Given the description of an element on the screen output the (x, y) to click on. 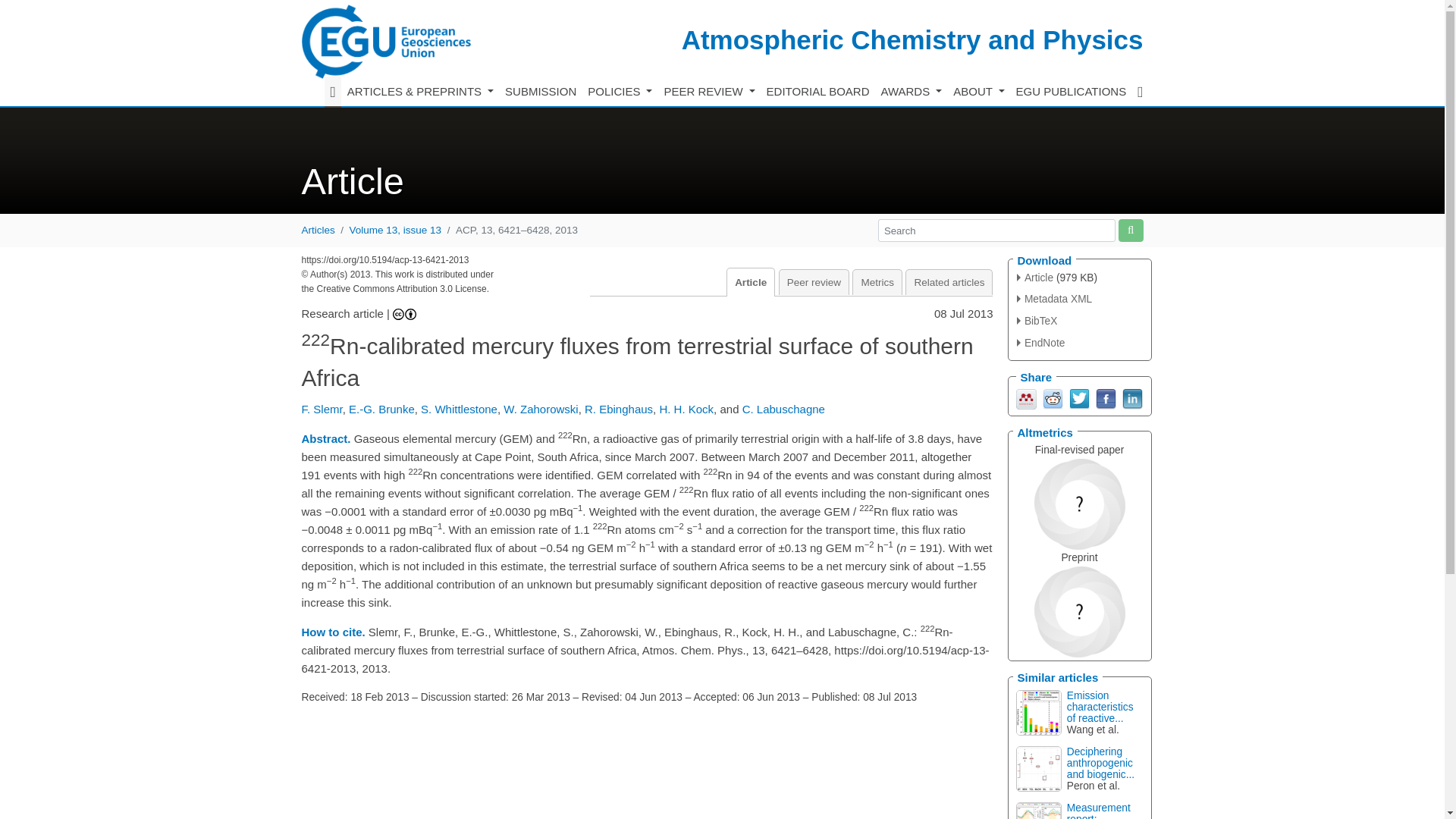
Atmospheric Chemistry and Physics (911, 39)
POLICIES (620, 91)
Reddit (1052, 397)
Twitter (1078, 397)
Facebook (1104, 397)
SUBMISSION (540, 91)
Start site search (1130, 229)
Mendeley (1026, 397)
XML Version (1054, 298)
